Given the description of an element on the screen output the (x, y) to click on. 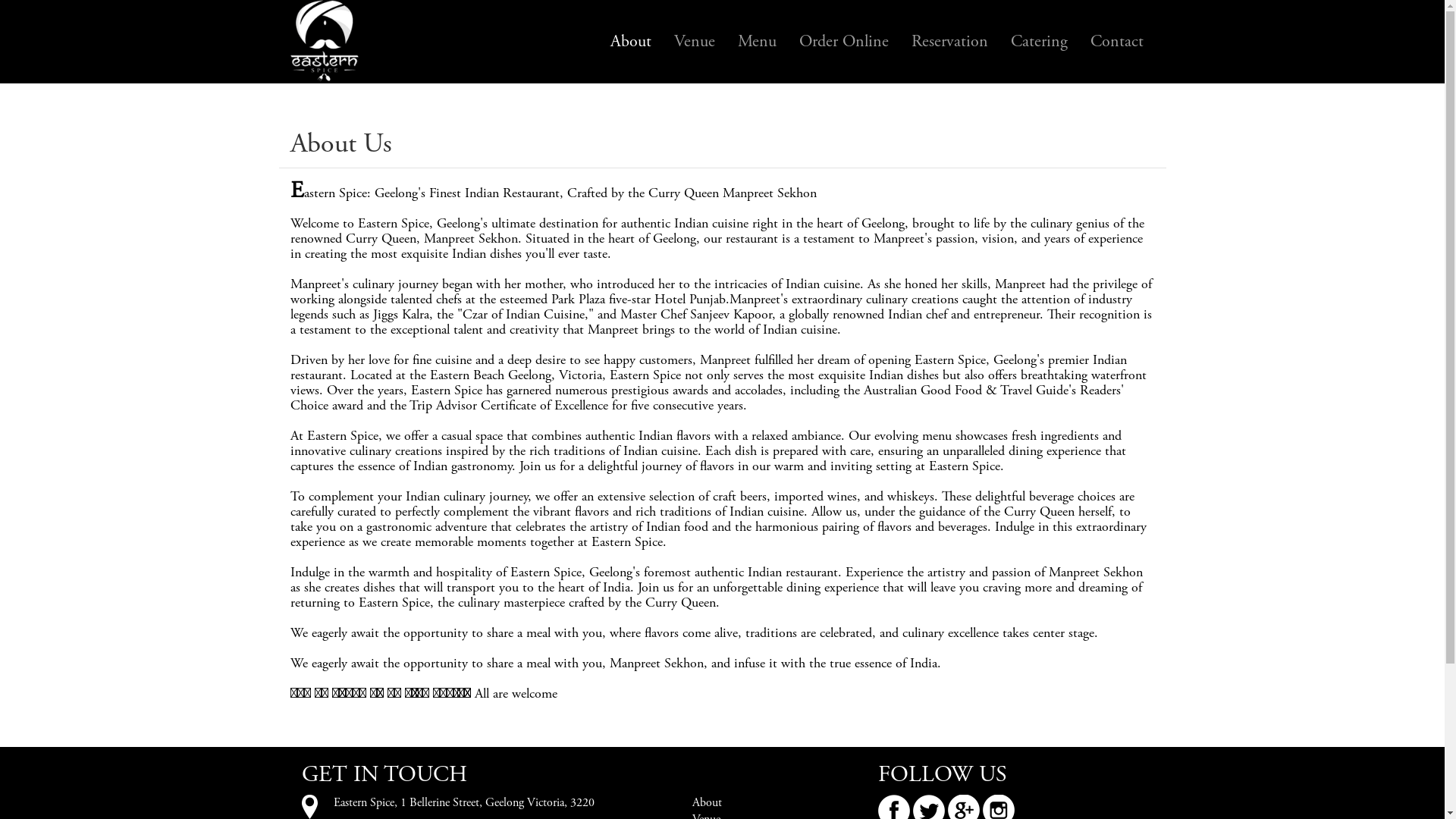
Venue Element type: text (694, 41)
About Element type: text (706, 802)
Order Online Element type: text (843, 41)
Contact Element type: text (1116, 41)
Catering Element type: text (1039, 41)
Menu Element type: text (756, 41)
About Element type: text (630, 41)
Reservation Element type: text (948, 41)
Eastern Spice, 1 Bellerine Street, Geelong Victoria, 3220 Element type: text (463, 802)
